Given the description of an element on the screen output the (x, y) to click on. 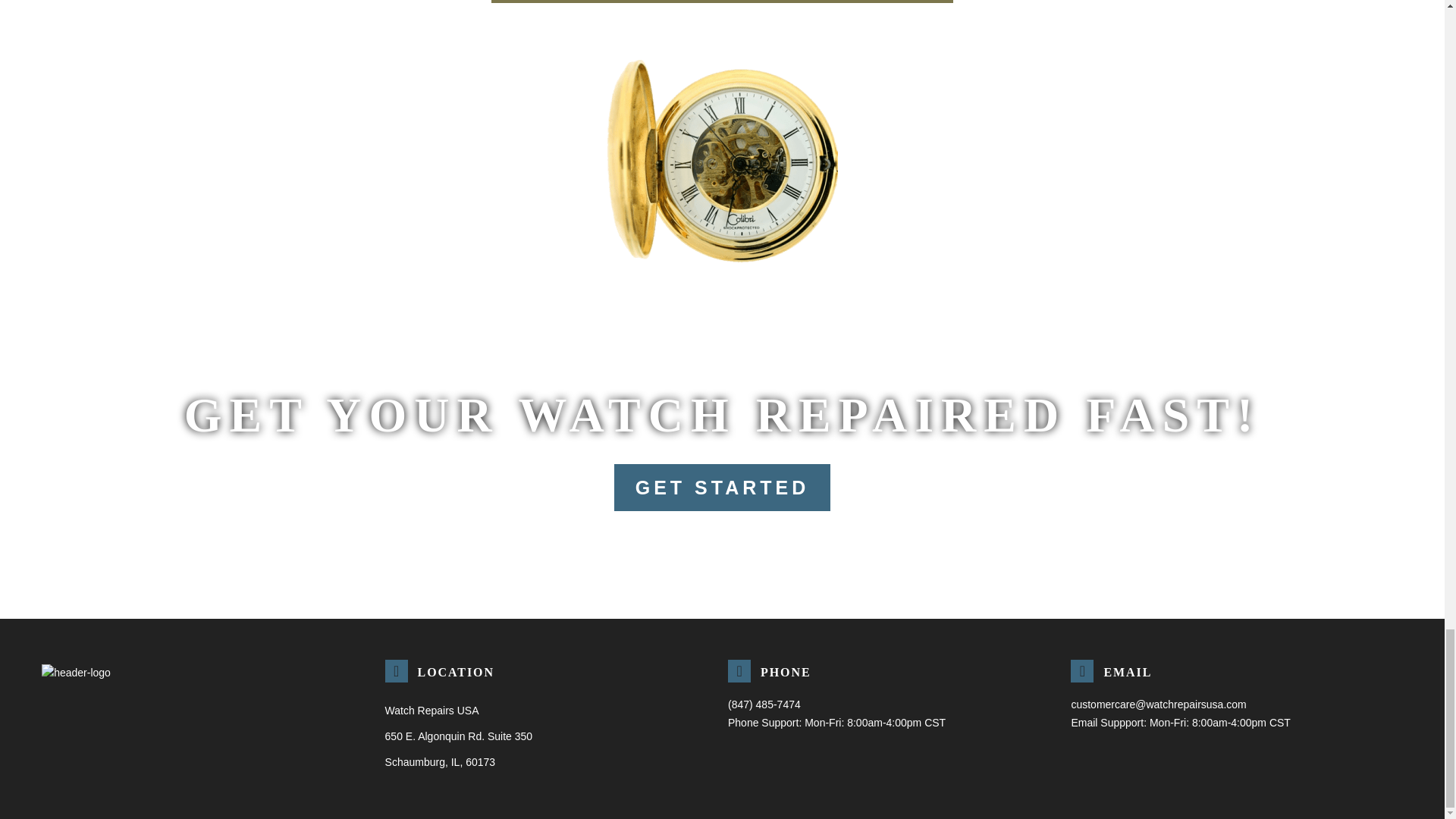
GET STARTED (722, 487)
